Given the description of an element on the screen output the (x, y) to click on. 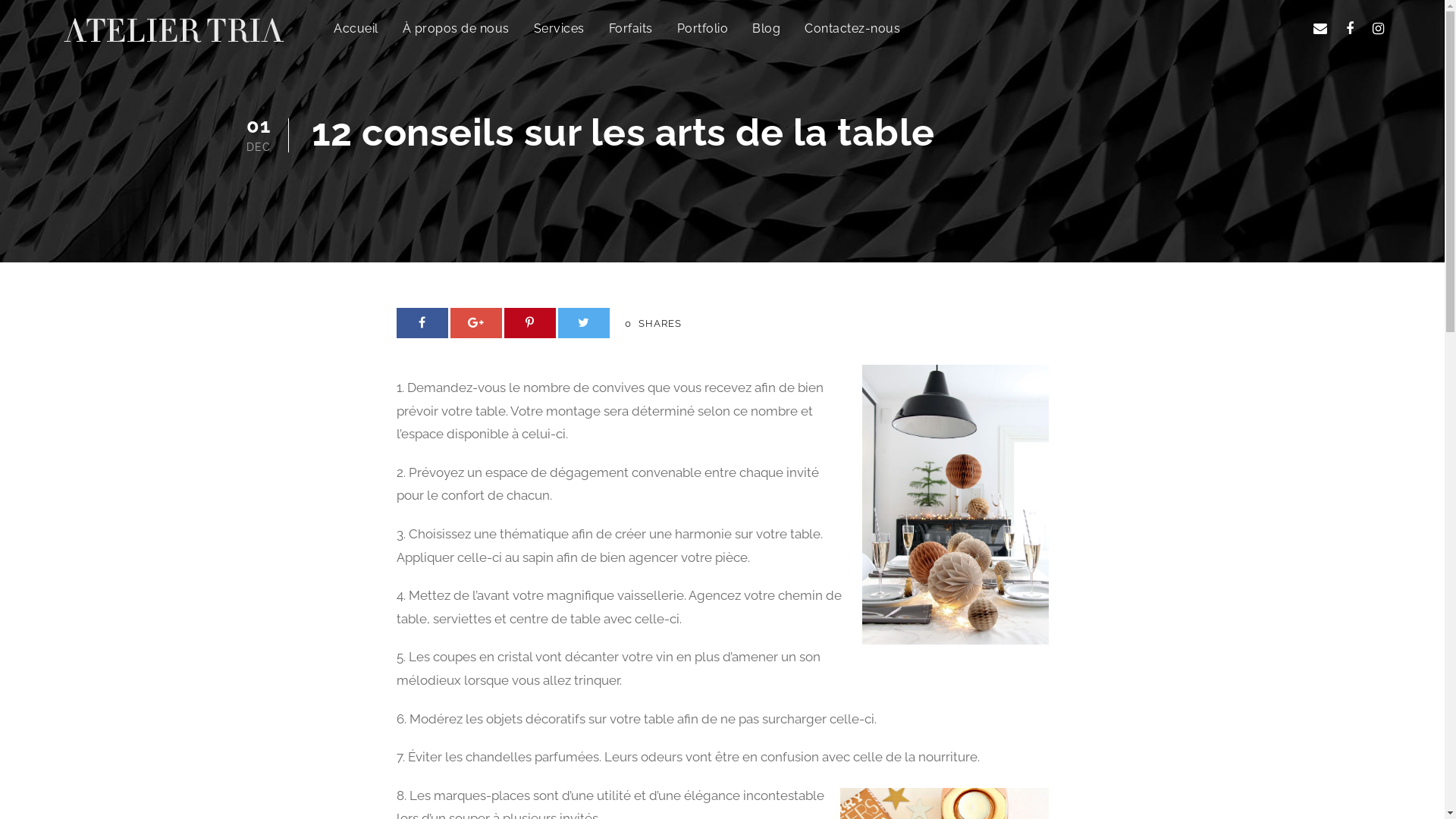
Accueil Element type: text (355, 35)
facebook Element type: hover (1349, 28)
Services Element type: text (558, 35)
Logo Element type: hover (174, 30)
Forfaits Element type: text (630, 35)
Blog Element type: text (766, 35)
Portfolio Element type: text (702, 35)
Contactez-nous Element type: text (852, 35)
instagram Element type: hover (1377, 28)
email Element type: hover (1320, 28)
